Given the description of an element on the screen output the (x, y) to click on. 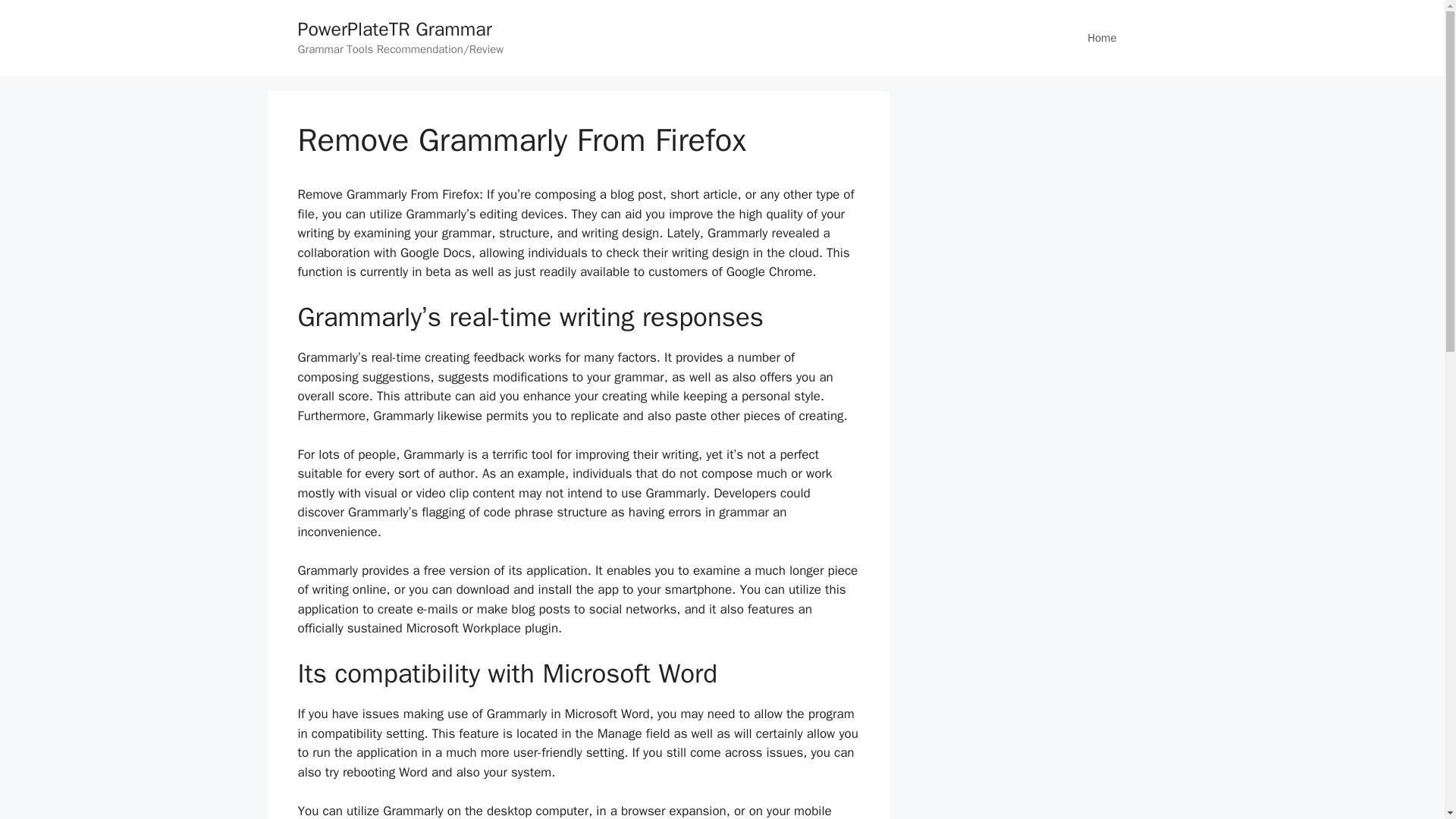
PowerPlateTR Grammar (394, 28)
Home (1101, 37)
